Given the description of an element on the screen output the (x, y) to click on. 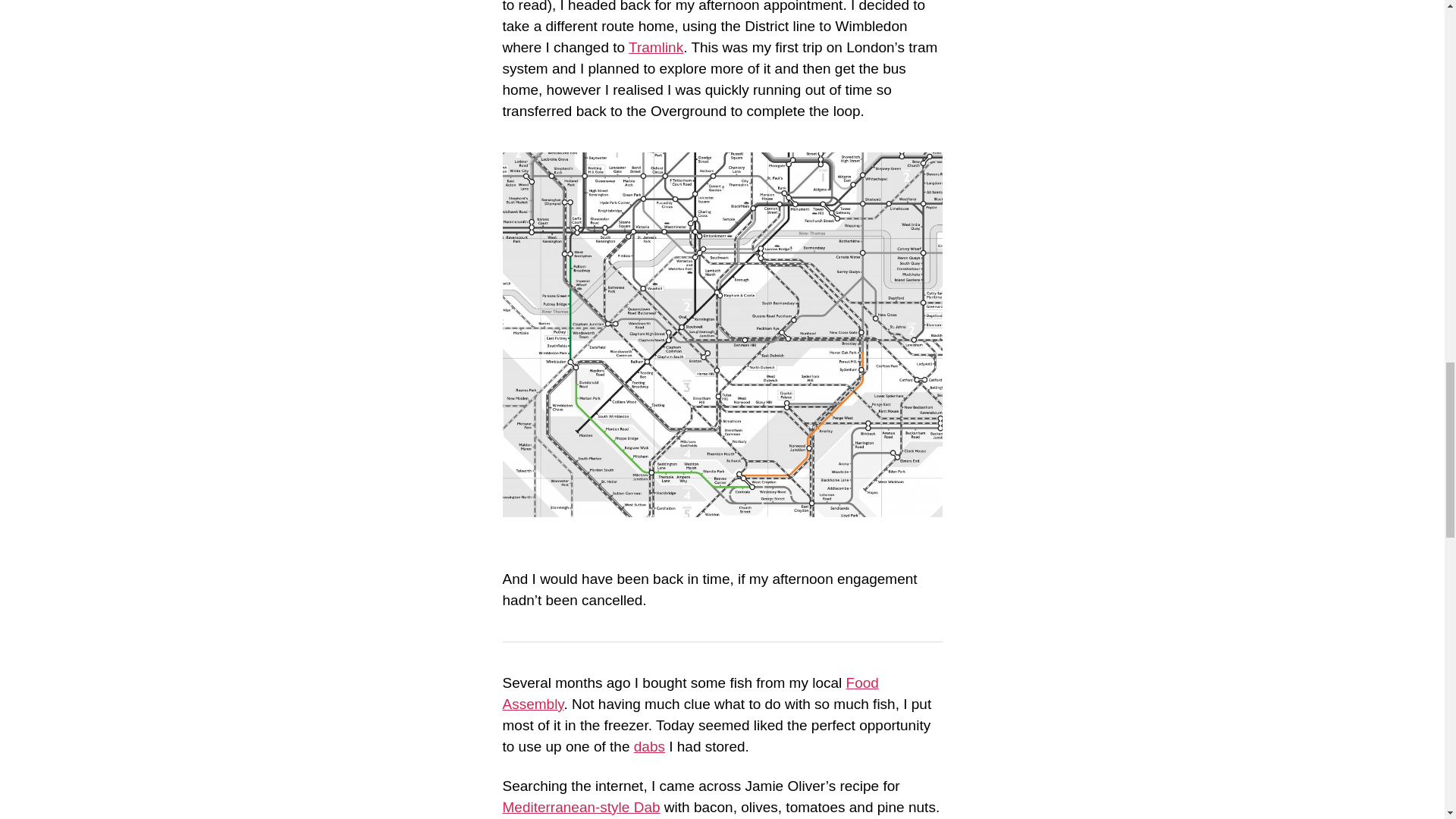
Food Assembly (689, 692)
Mediterranean-style Dab (580, 806)
Tramlink (655, 47)
dabs (649, 746)
